Given the description of an element on the screen output the (x, y) to click on. 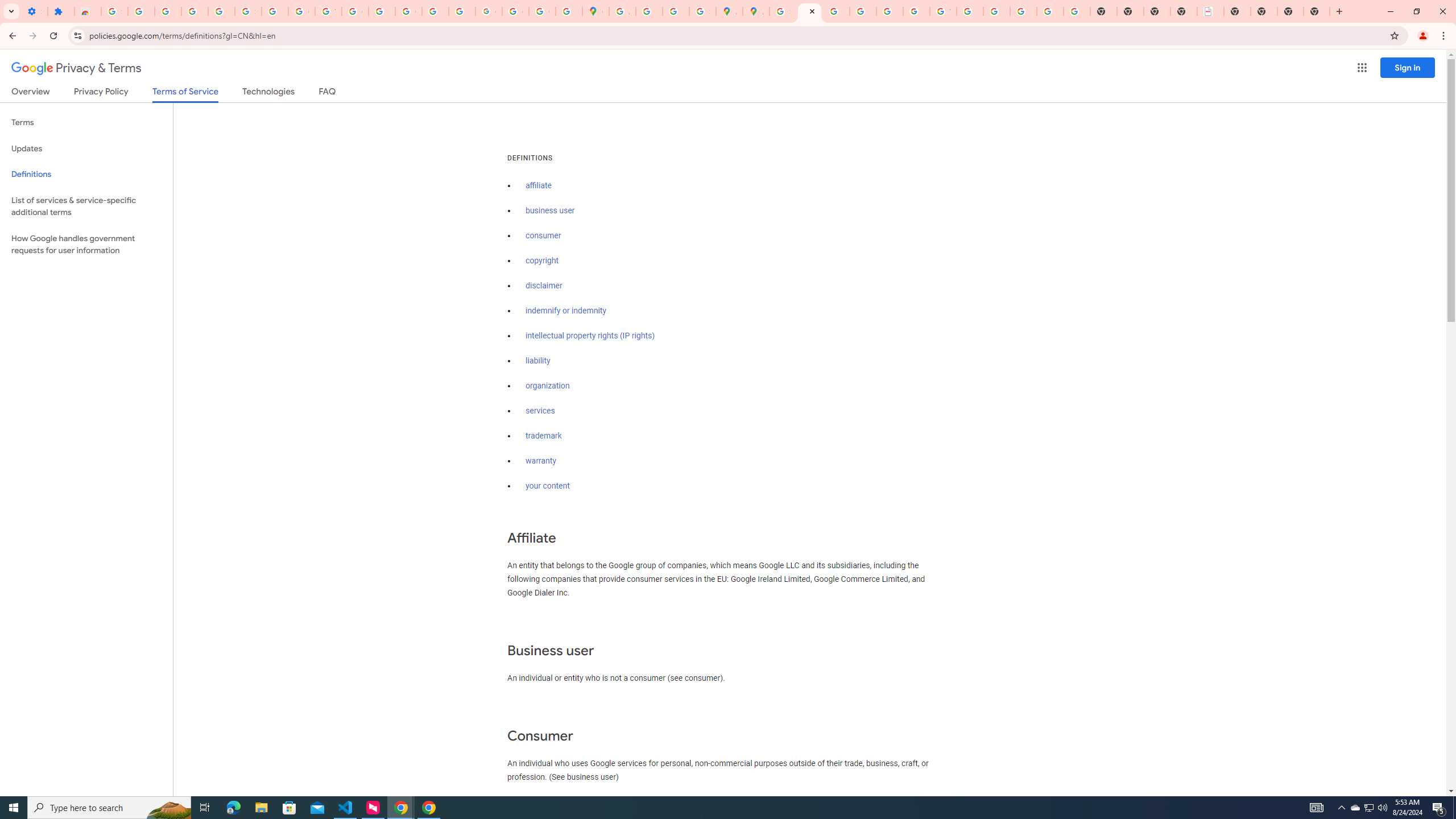
Delete photos & videos - Computer - Google Photos Help (167, 11)
disclaimer (543, 285)
Sign in - Google Accounts (248, 11)
How Google handles government requests for user information (86, 244)
business user (550, 210)
